Given the description of an element on the screen output the (x, y) to click on. 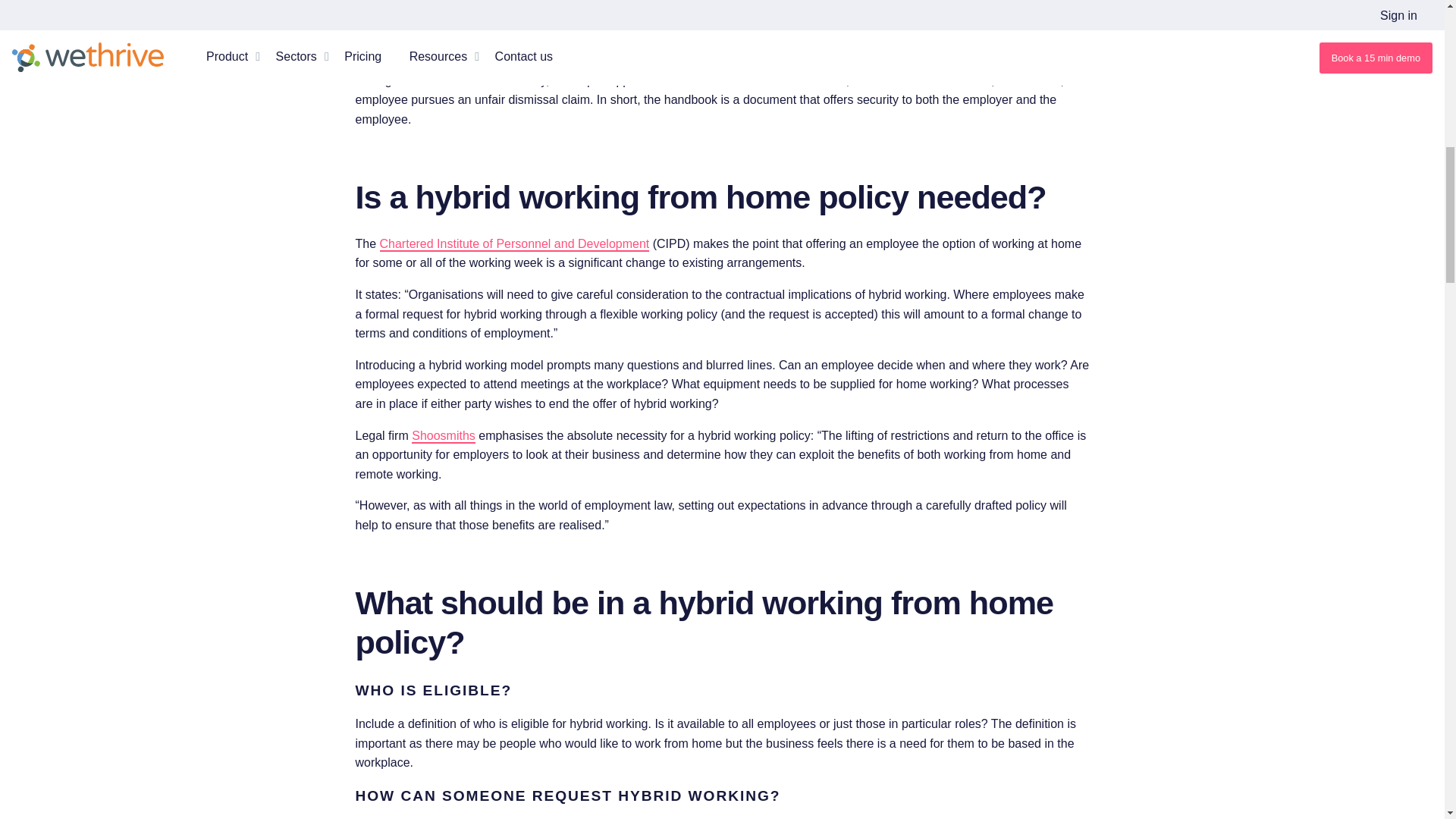
Chartered Institute of Personnel and Development (514, 244)
Shoosmiths (444, 436)
